Given the description of an element on the screen output the (x, y) to click on. 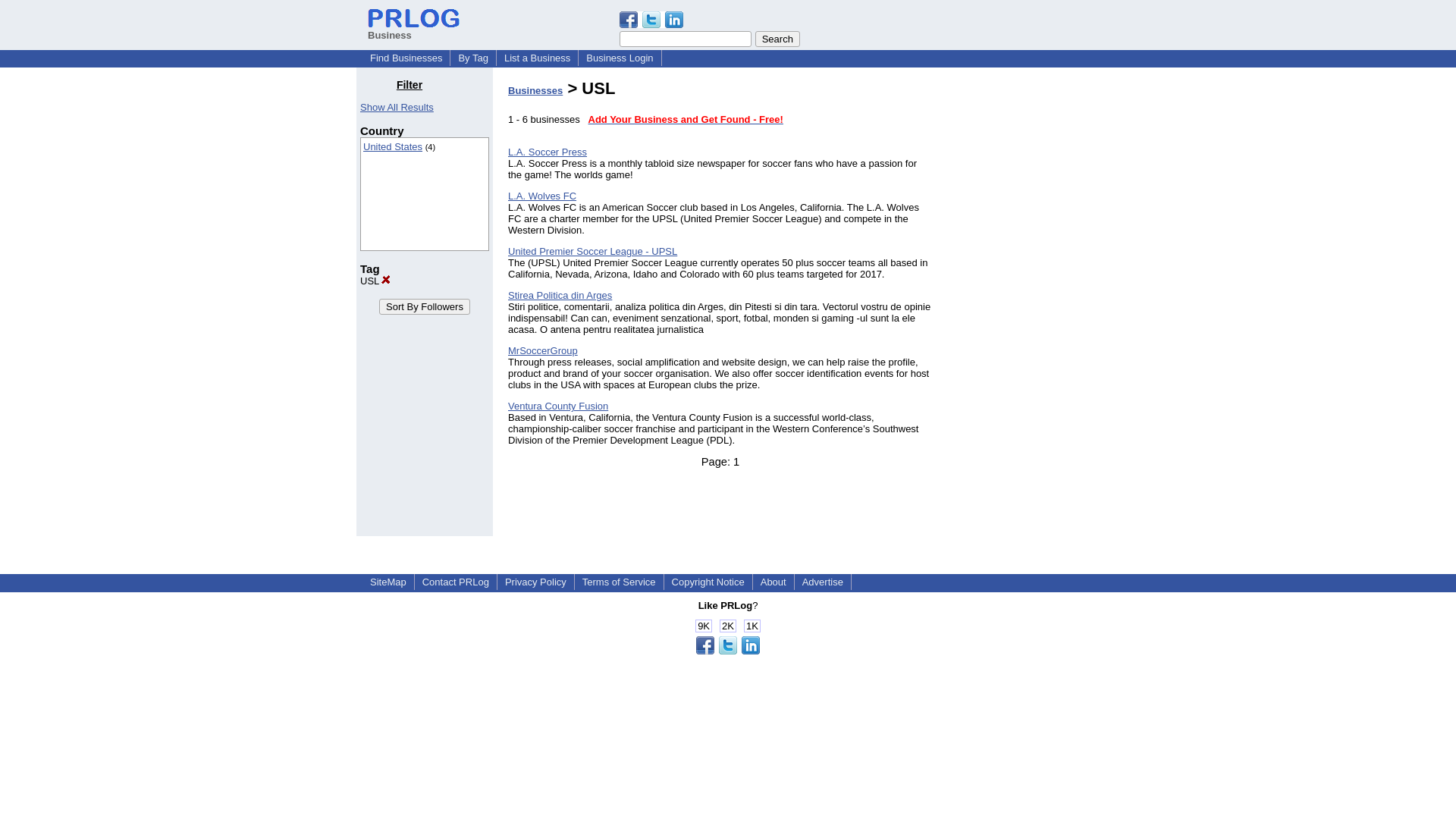
L.A. Wolves FC (542, 195)
Businesses (535, 90)
Search (777, 38)
Contact PRLog (455, 581)
MrSoccerGroup (543, 350)
Find Businesses (406, 57)
SiteMap (388, 581)
USL (374, 280)
Copyright Notice (708, 581)
Sort By Followers (424, 306)
